Given the description of an element on the screen output the (x, y) to click on. 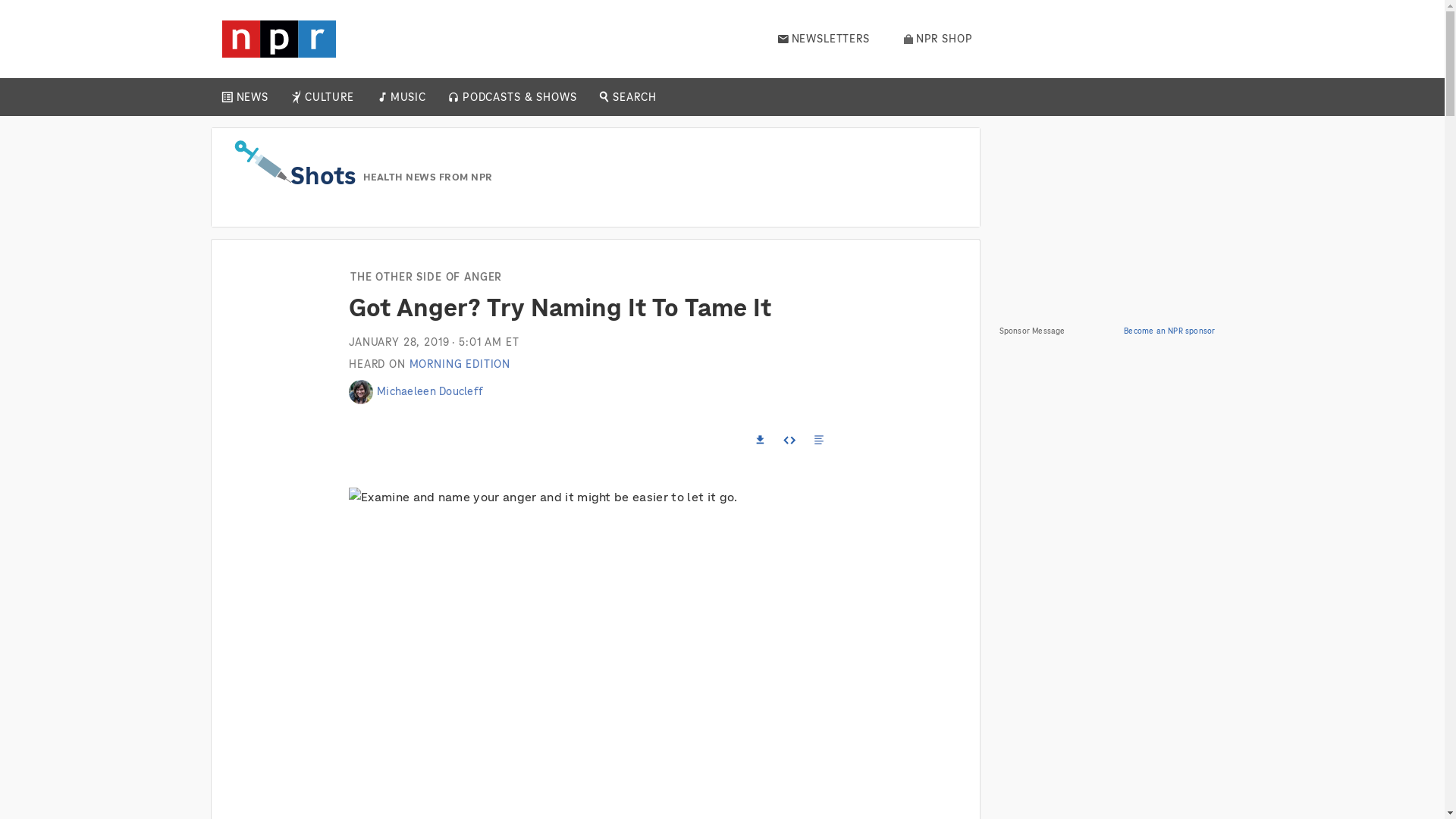
NEWS (251, 96)
MUSIC (407, 96)
CULTURE (328, 96)
NPR SHOP (938, 38)
NEWSLETTERS (823, 38)
